Given the description of an element on the screen output the (x, y) to click on. 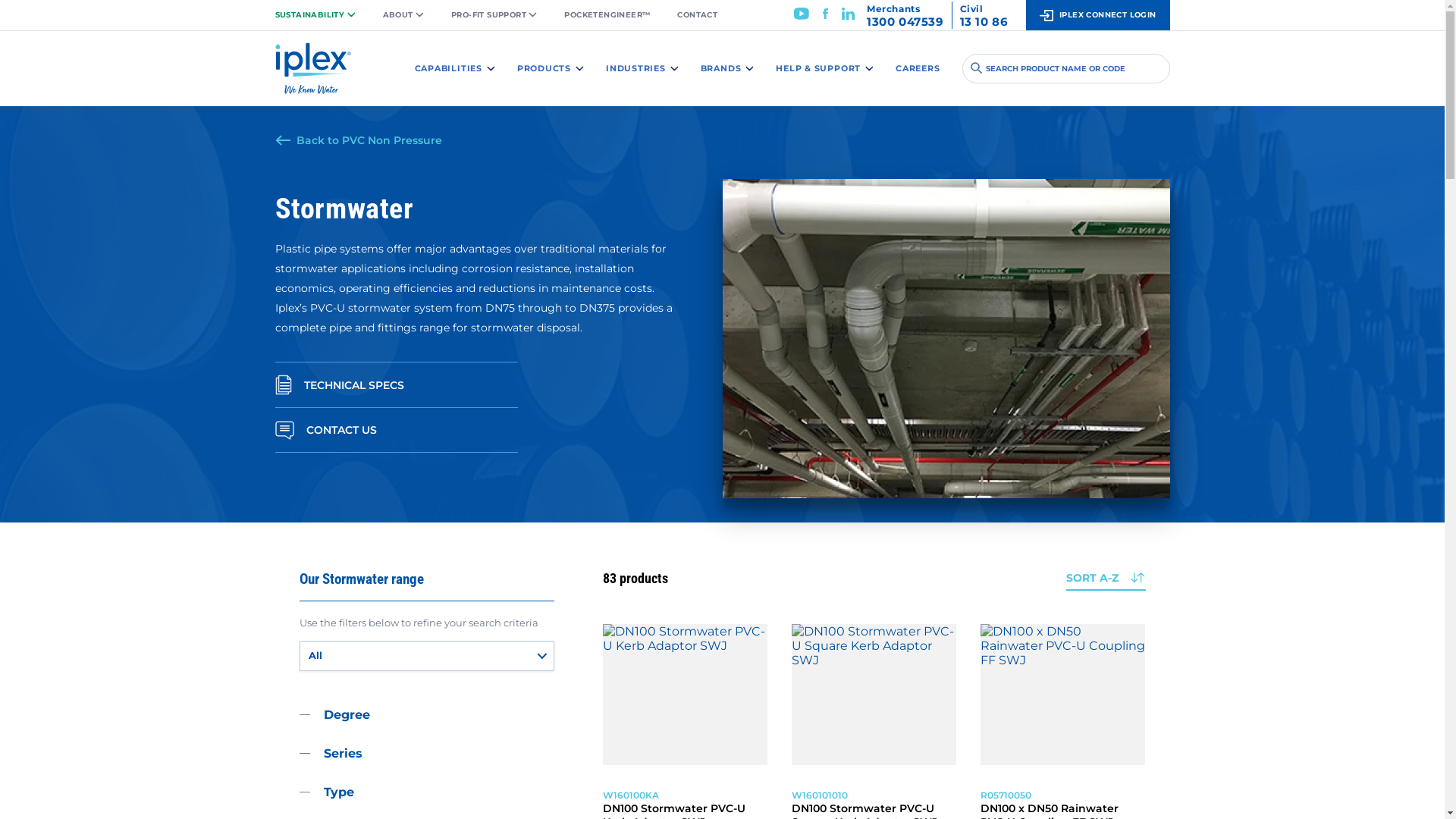
R
Iplex Australia Element type: text (312, 75)
CAREERS Element type: text (917, 67)
Civil
13 10 86 Element type: text (984, 14)
HELP & SUPPORT Element type: text (824, 67)
SUSTAINABILITY Element type: text (321, 15)
PRO-FIT SUPPORT Element type: text (493, 15)
CONTACT US Element type: text (395, 429)
ABOUT Element type: text (402, 15)
youtube Element type: text (801, 18)
Back to PVC Non Pressure Element type: text (357, 140)
linkedin Element type: text (847, 18)
CONTACT Element type: text (697, 15)
TECHNICAL SPECS Element type: text (395, 384)
PRODUCTS Element type: text (550, 67)
CAPABILITIES Element type: text (454, 67)
BRANDS Element type: text (727, 67)
INDUSTRIES Element type: text (641, 67)
IPLEX CONNECT LOGIN Element type: text (1097, 15)
Merchants
1300 047539 Element type: text (905, 14)
